Given the description of an element on the screen output the (x, y) to click on. 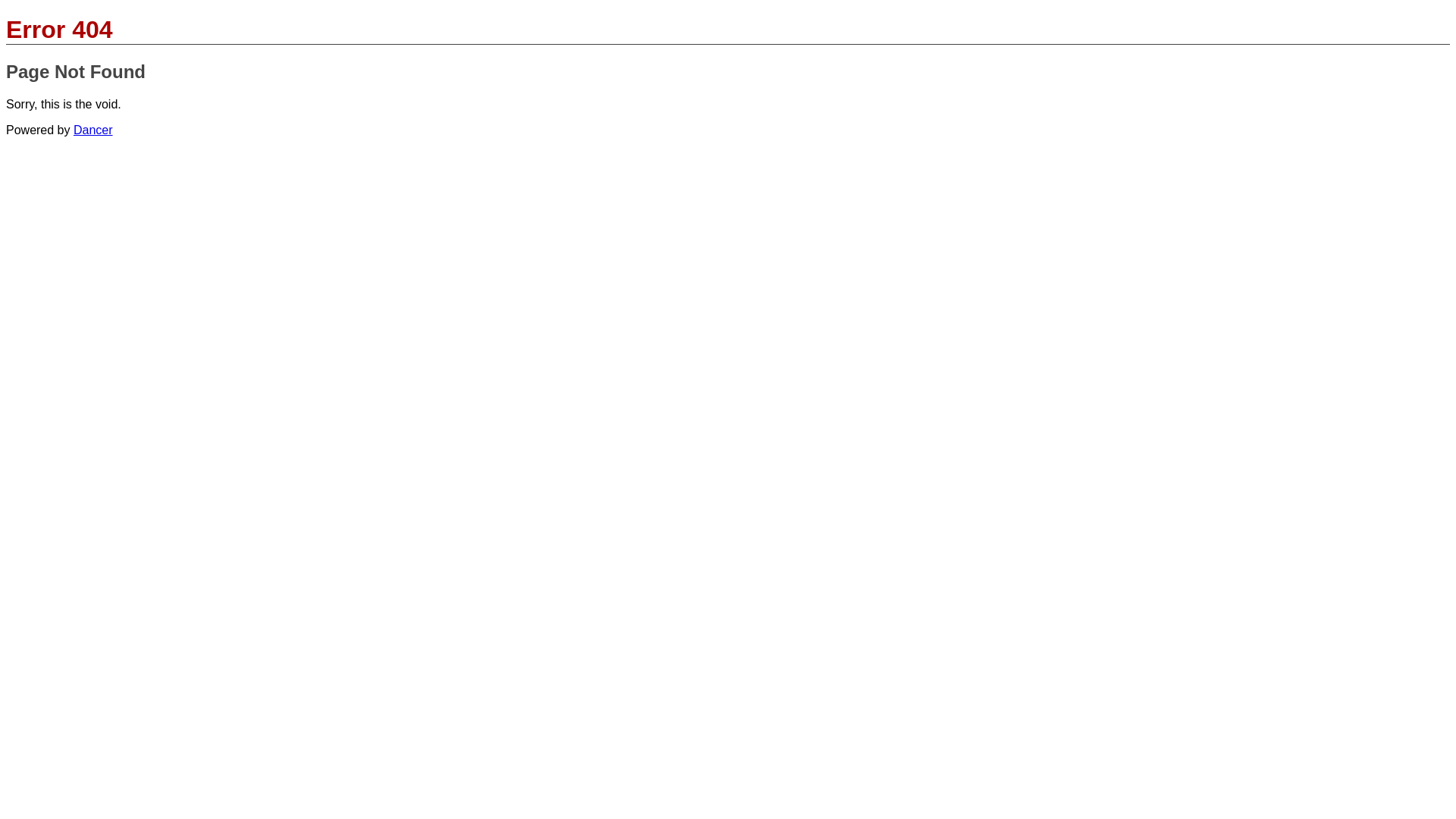
Dancer Element type: text (92, 129)
